Given the description of an element on the screen output the (x, y) to click on. 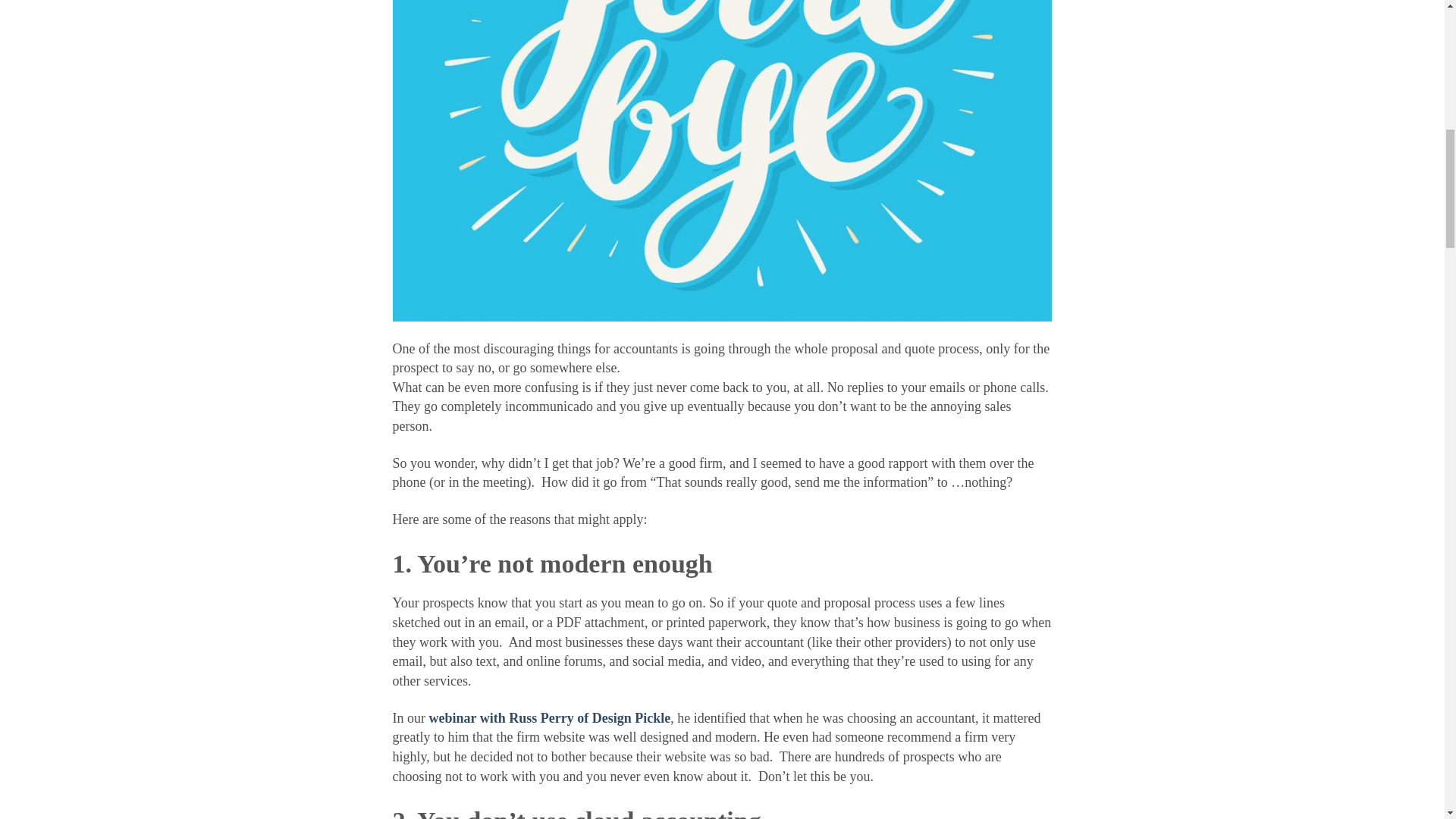
webinar with Russ Perry of Design Pickle (550, 717)
